Given the description of an element on the screen output the (x, y) to click on. 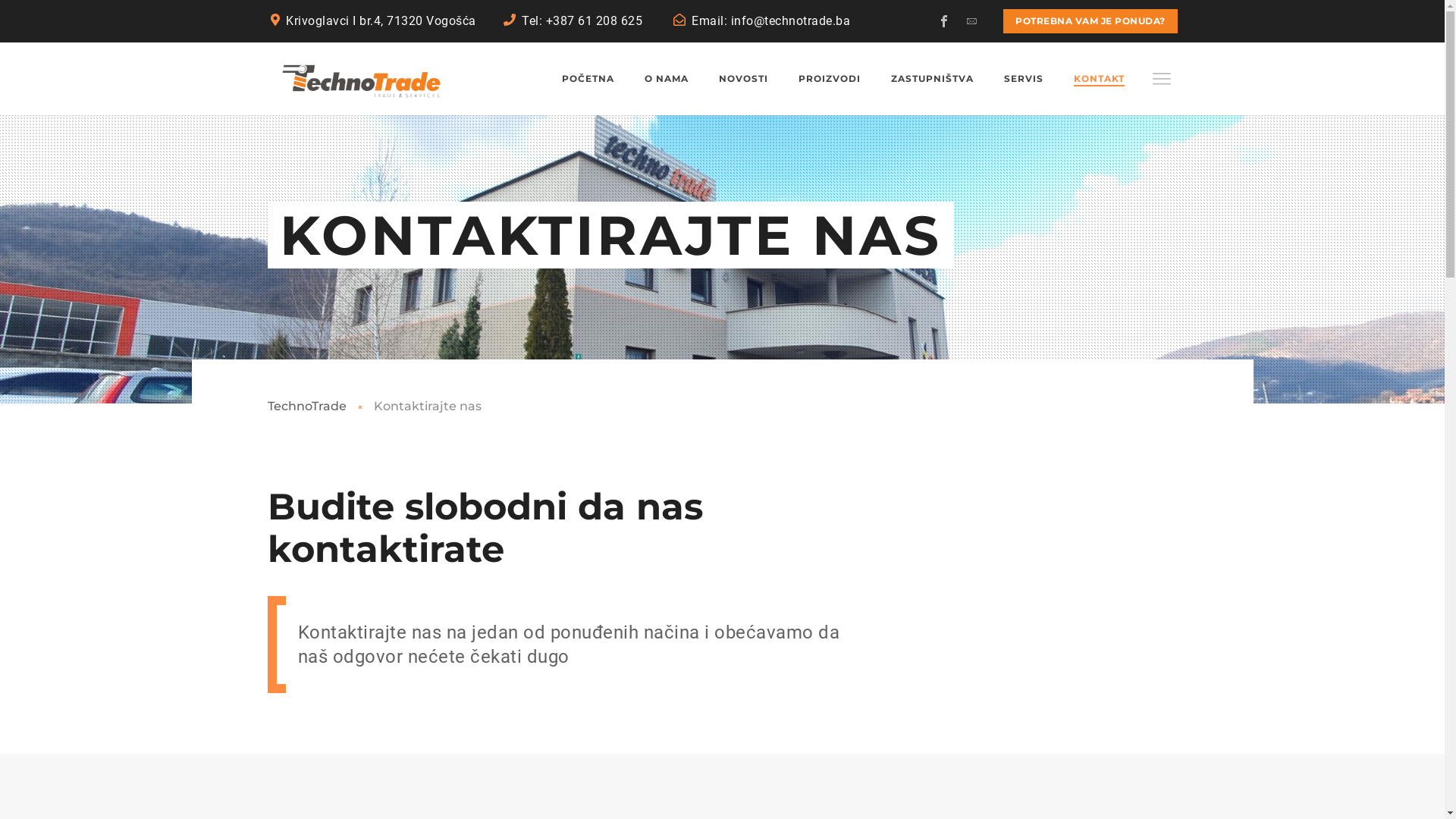
O NAMA Element type: text (666, 78)
TechnoTrade.ba Element type: hover (355, 78)
email Element type: hover (971, 21)
POTREBNA VAM JE PONUDA? Element type: text (1090, 21)
PROIZVODI Element type: text (828, 78)
SERVIS Element type: text (1023, 78)
NOVOSTI Element type: text (743, 78)
TechnoTrade Element type: text (305, 405)
facebook Element type: hover (943, 21)
KONTAKT Element type: text (1098, 78)
